Given the description of an element on the screen output the (x, y) to click on. 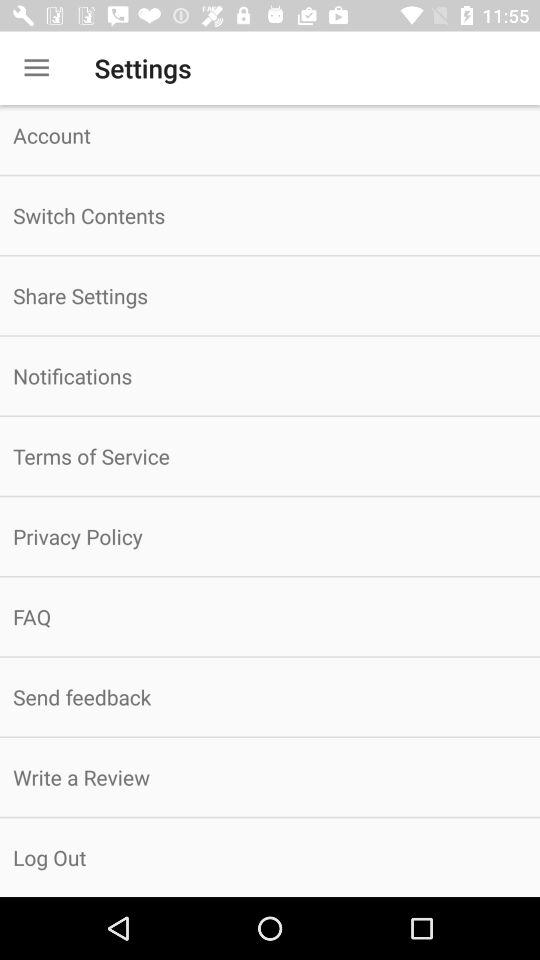
select item above the share settings item (270, 215)
